Given the description of an element on the screen output the (x, y) to click on. 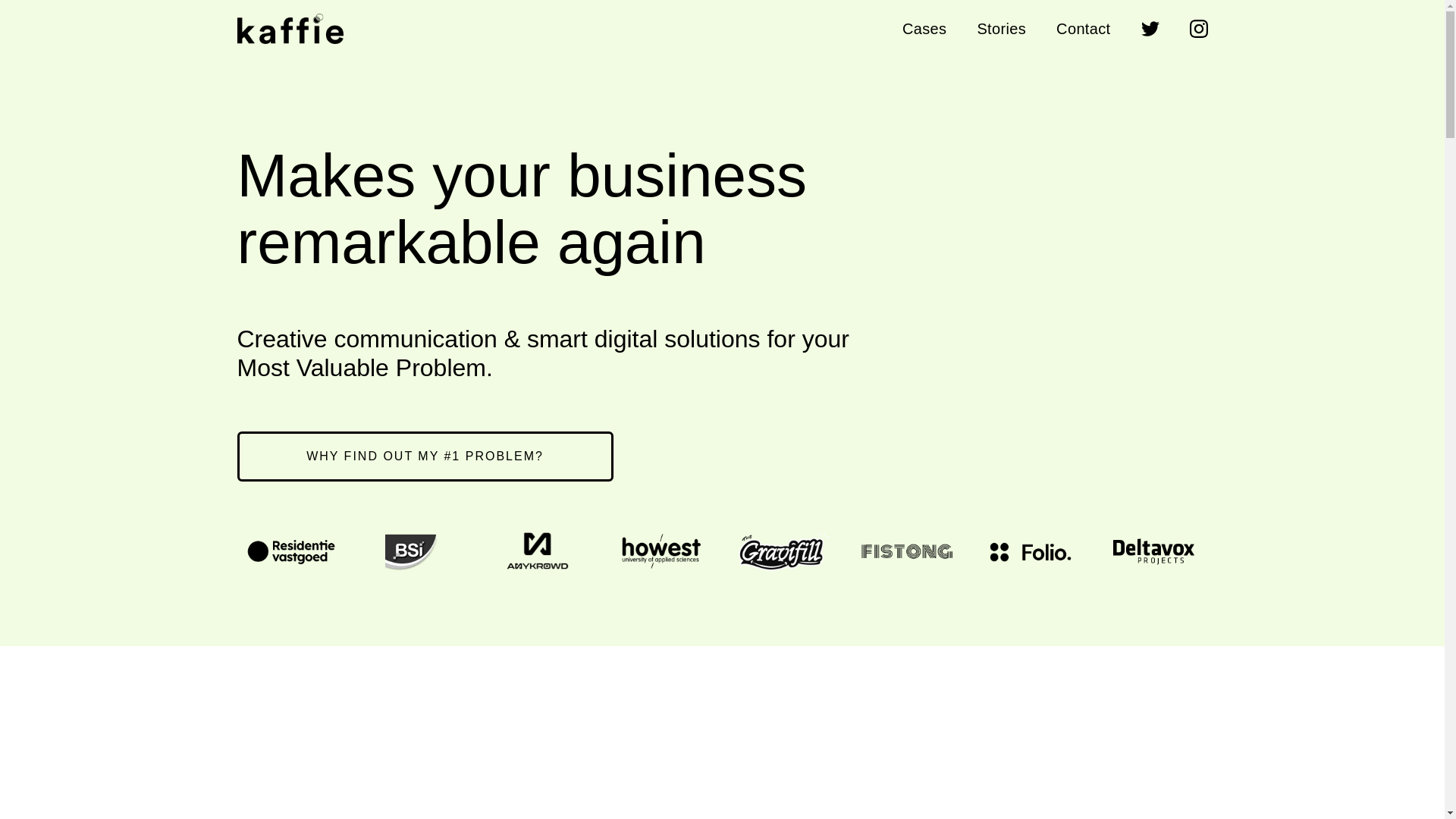
Stories (1001, 28)
Instagram Icon (1198, 28)
Cases (924, 28)
Contact (1083, 28)
Twitter Icon (1149, 28)
Instagram Icon (1198, 28)
Twitter Icon (1149, 28)
